Given the description of an element on the screen output the (x, y) to click on. 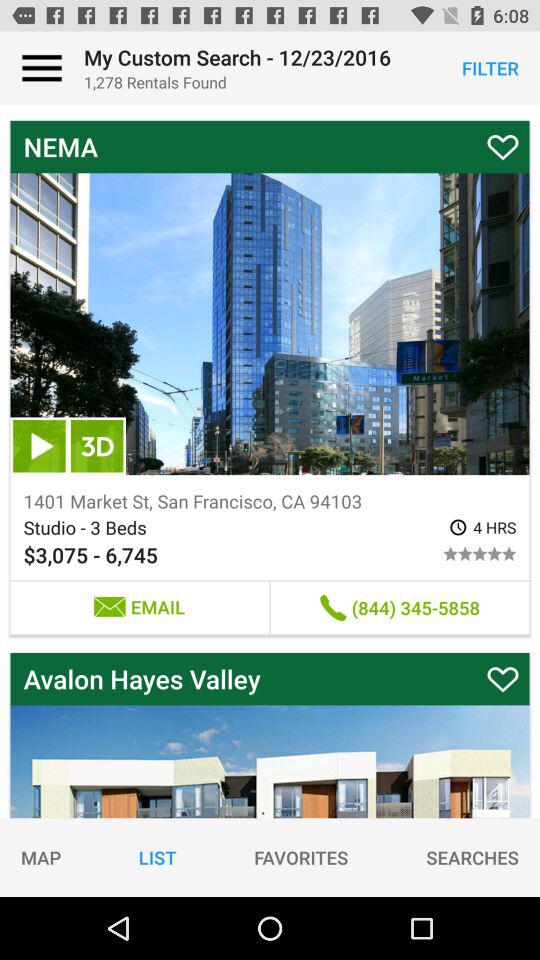
select item above the 1401 market st item (39, 446)
